Given the description of an element on the screen output the (x, y) to click on. 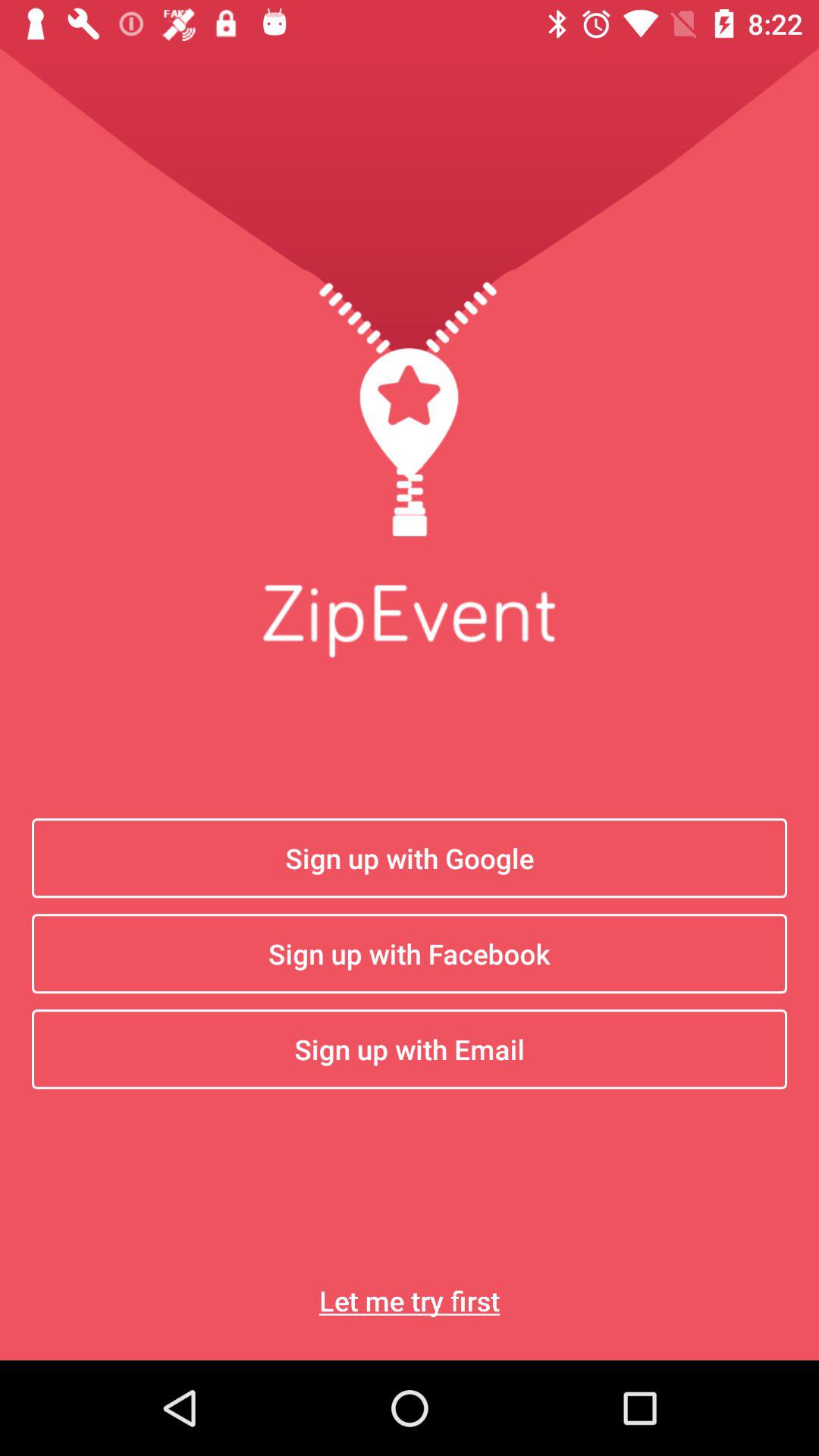
launch the let me try button (409, 1300)
